Given the description of an element on the screen output the (x, y) to click on. 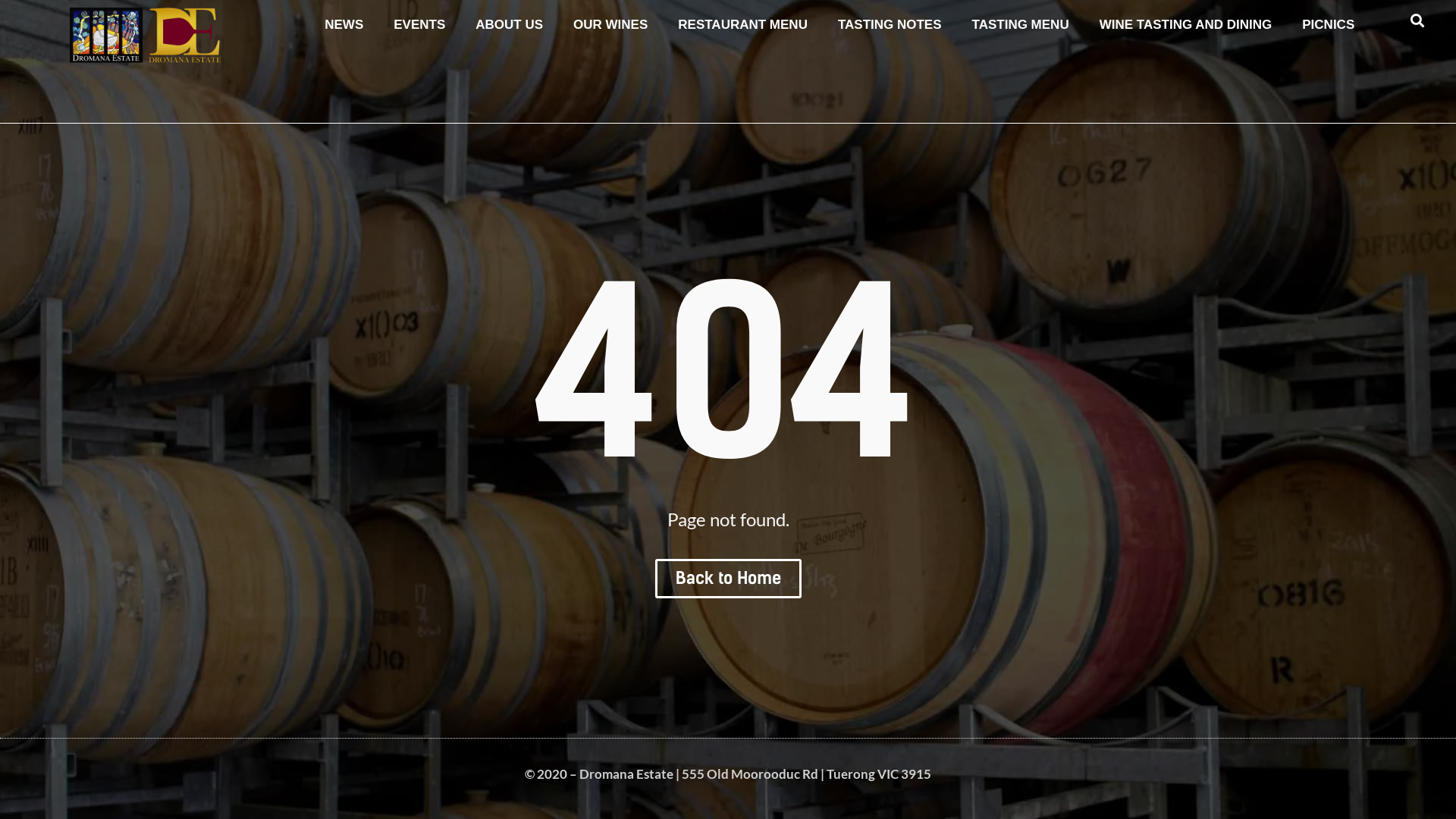
Back to Home Element type: text (728, 578)
RESTAURANT MENU Element type: text (742, 24)
PICNICS Element type: text (1327, 24)
WINE TASTING AND DINING Element type: text (1185, 24)
TASTING NOTES Element type: text (889, 24)
EVENTS Element type: text (419, 24)
OUR WINES Element type: text (610, 24)
NEWS Element type: text (343, 24)
ABOUT US Element type: text (509, 24)
TASTING MENU Element type: text (1020, 24)
